Given the description of an element on the screen output the (x, y) to click on. 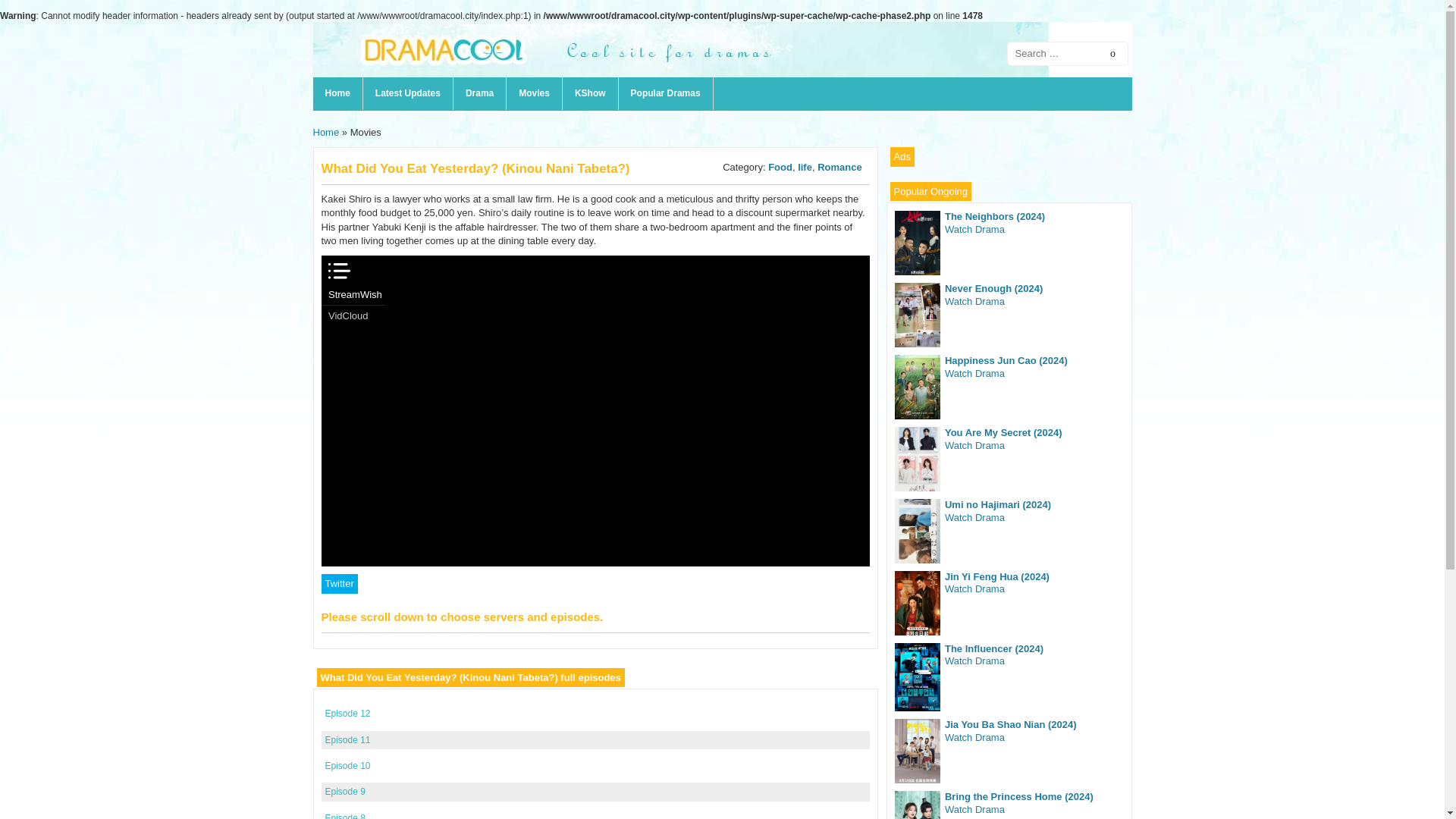
Episode 8 (344, 816)
Episode 11 (346, 739)
Romance (838, 166)
Episode 9 (344, 791)
Dramacool (680, 73)
KShow (589, 92)
Food (780, 166)
Episode 8 (344, 816)
Movies (534, 92)
life (804, 166)
